Given the description of an element on the screen output the (x, y) to click on. 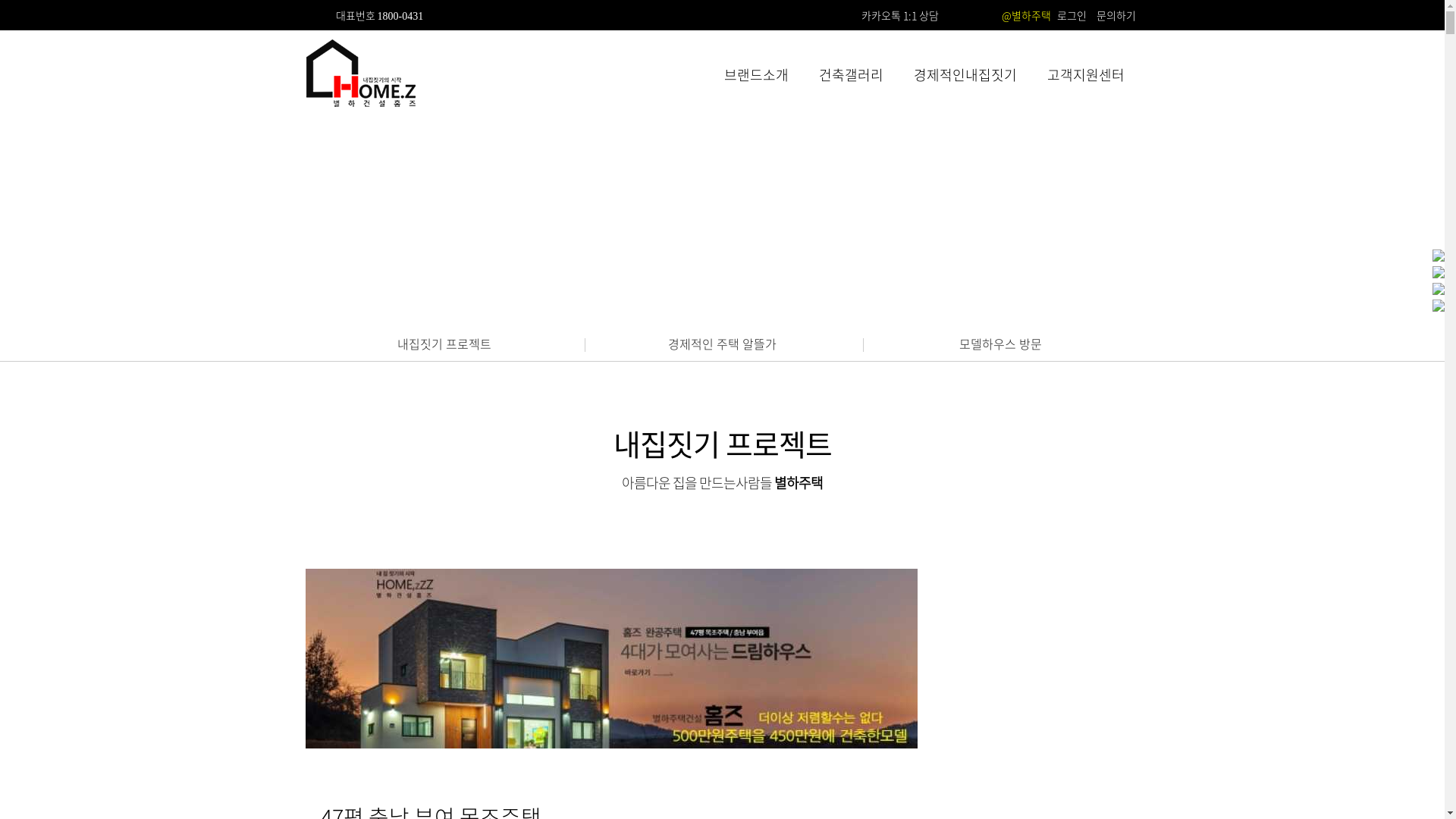
1074ee15e5d891be9ed4b00b80582dc7_1628763315_8507.jpg Element type: hover (610, 658)
